Given the description of an element on the screen output the (x, y) to click on. 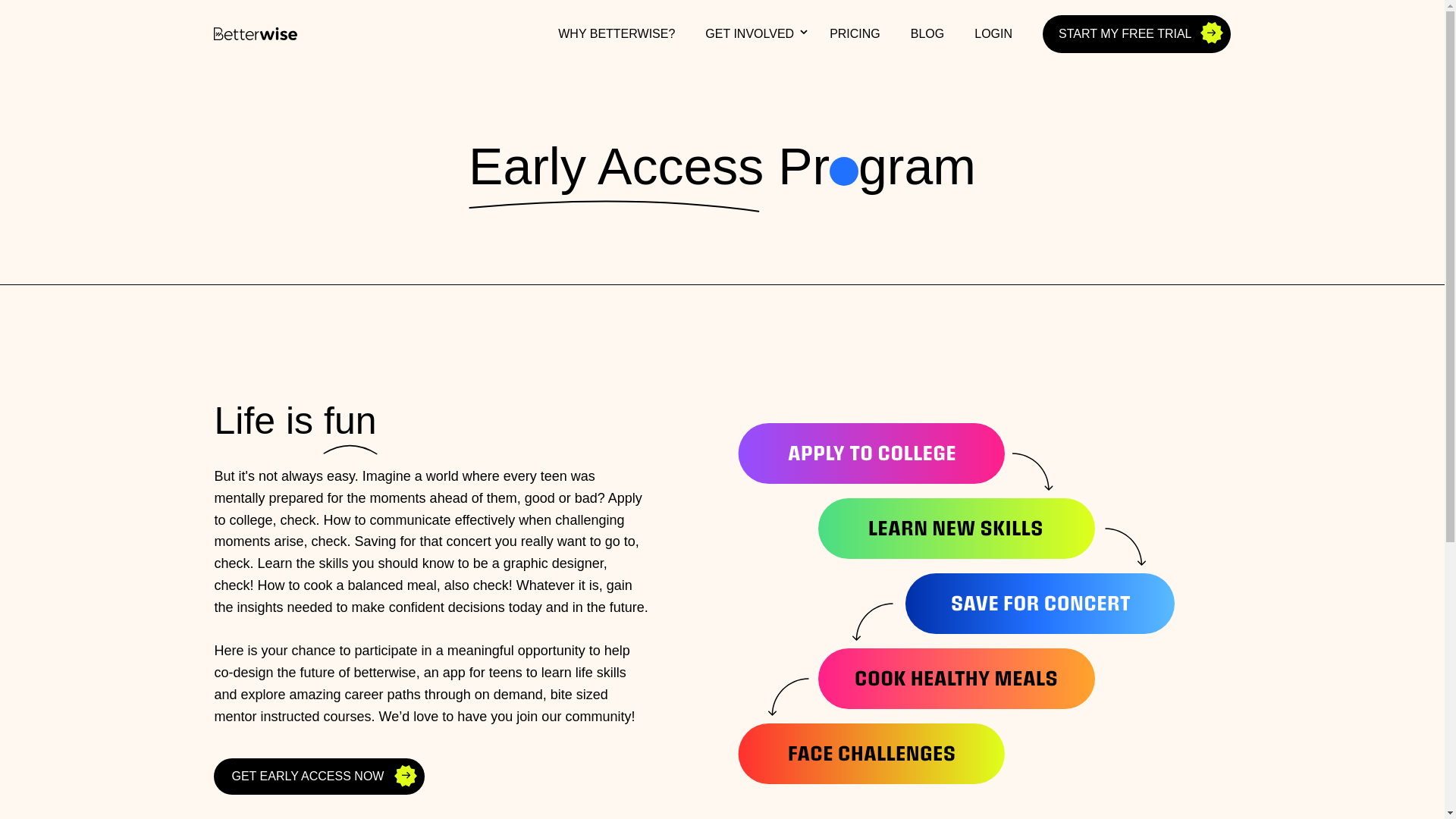
BLOG (927, 33)
GET INVOLVED (751, 33)
PRICING (854, 33)
WHY BETTERWISE? (616, 33)
GET EARLY ACCESS NOW (319, 776)
LOGIN (993, 33)
START MY FREE TRIAL (1136, 33)
